Given the description of an element on the screen output the (x, y) to click on. 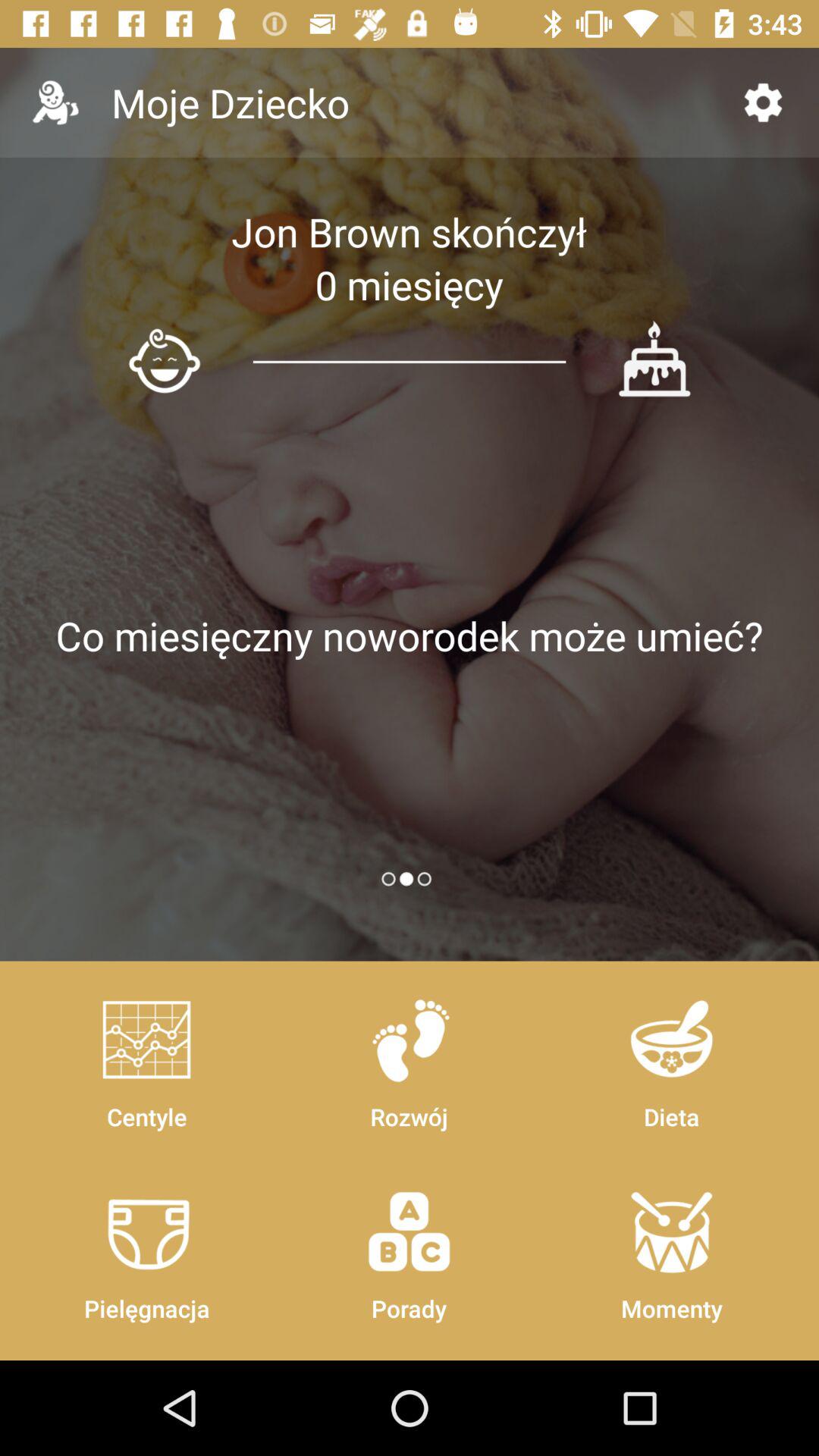
swipe until porady item (409, 1248)
